Given the description of an element on the screen output the (x, y) to click on. 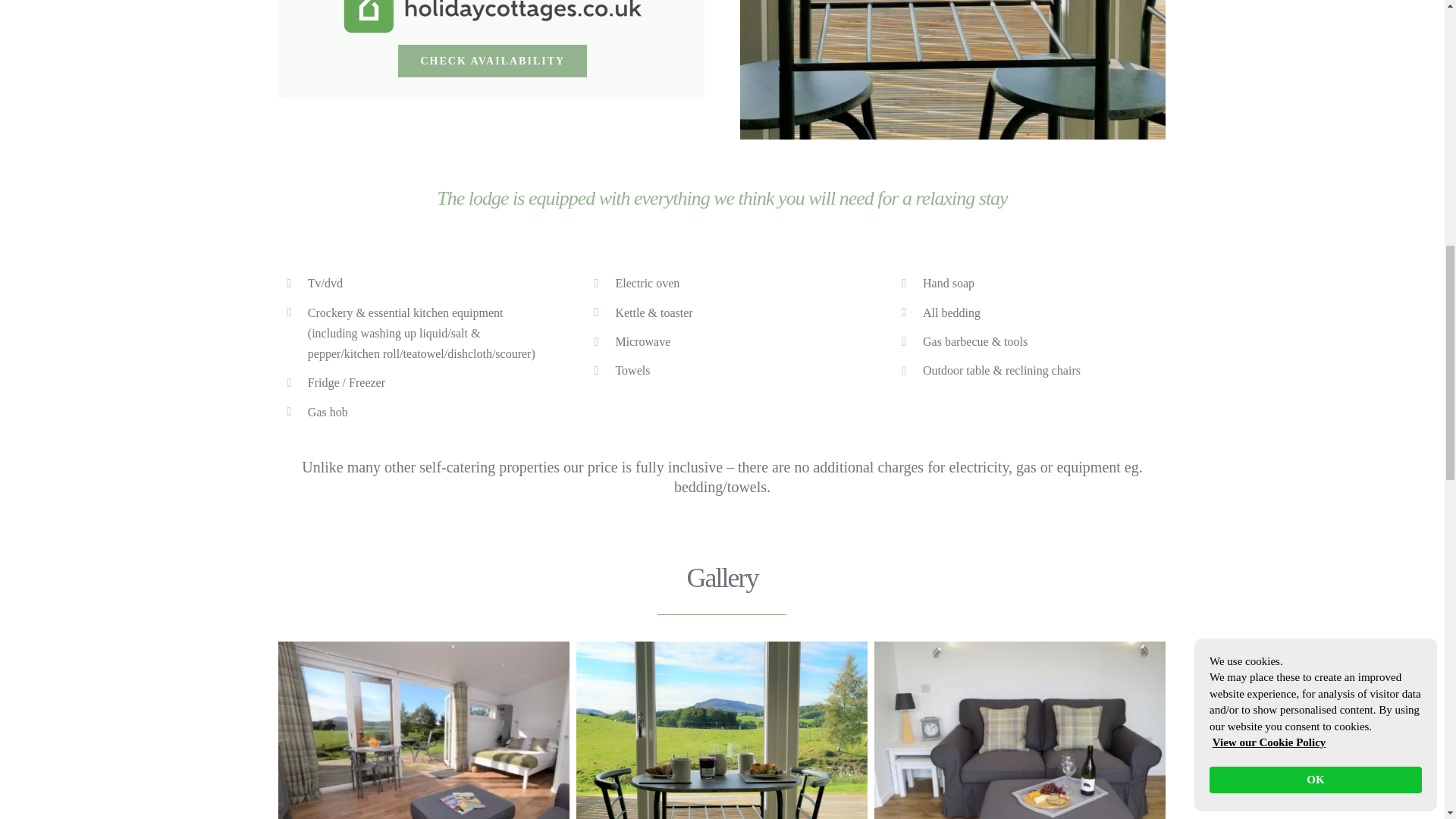
CHECK AVAILABILITY (491, 60)
